Given the description of an element on the screen output the (x, y) to click on. 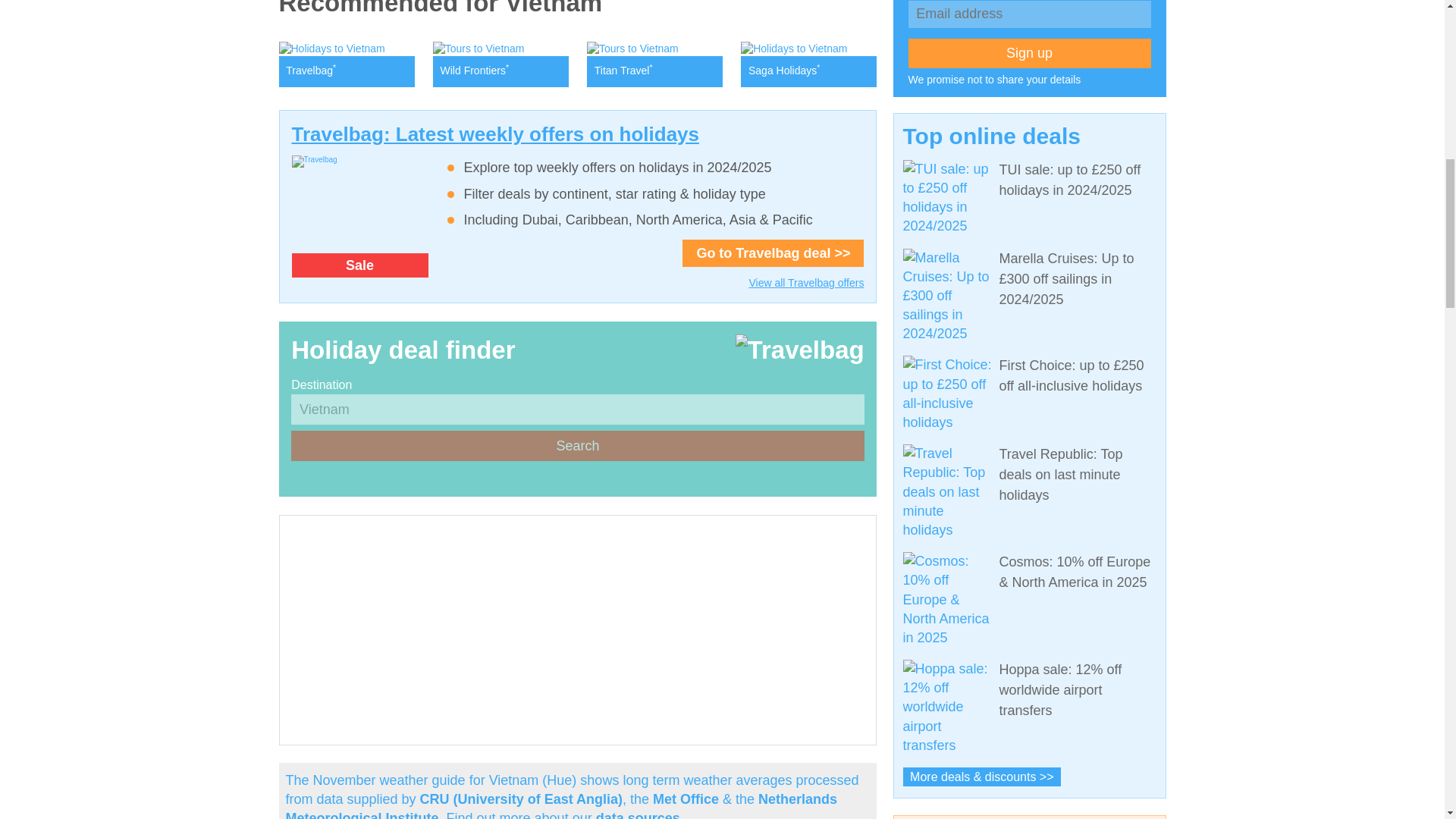
Tours to Vietnam (500, 63)
Tours to Vietnam (654, 63)
Sign up (1029, 52)
Holidays to Vietnam (808, 63)
Search (577, 445)
Holidays to Vietnam (346, 63)
Search (577, 445)
